Given the description of an element on the screen output the (x, y) to click on. 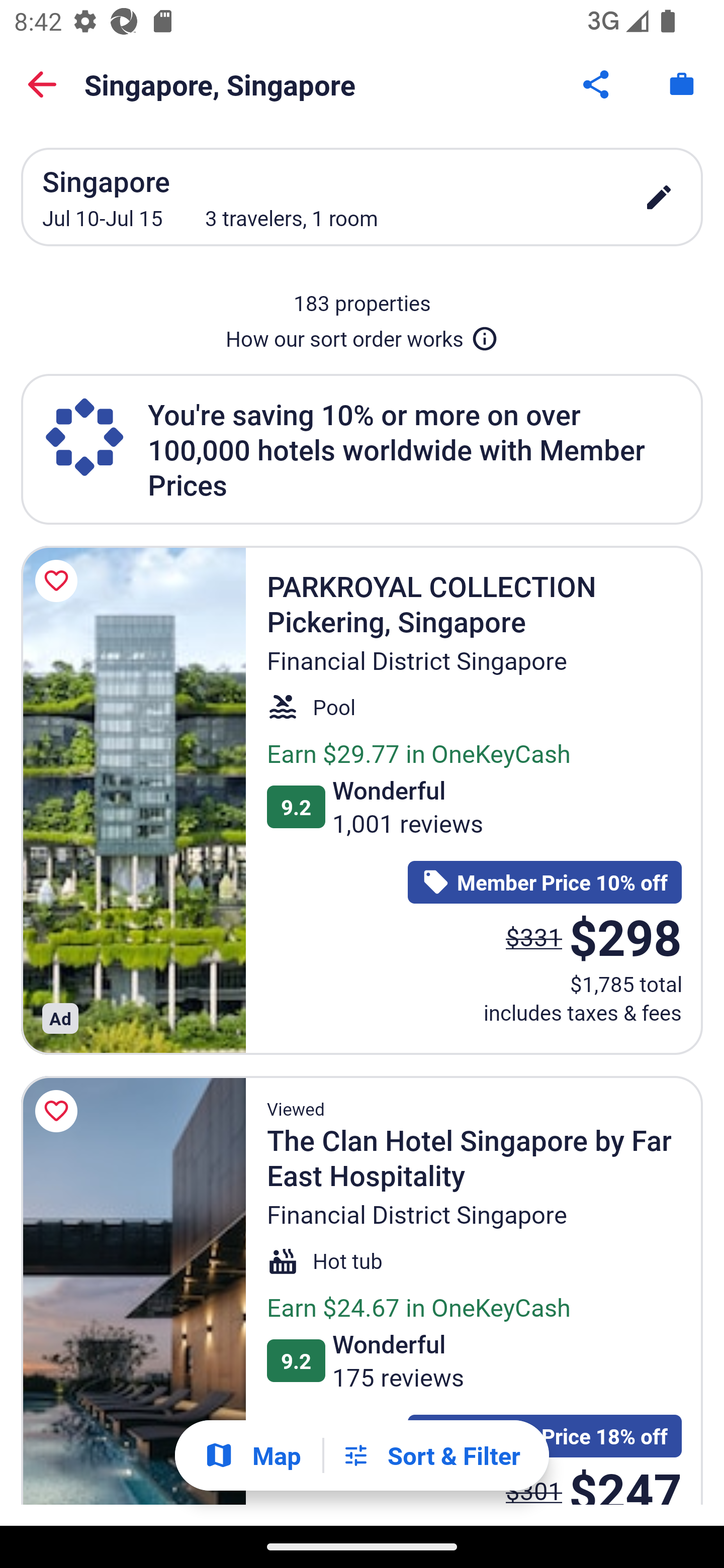
Back (42, 84)
Share Button (597, 84)
Trips. Button (681, 84)
Singapore Jul 10-Jul 15 3 travelers, 1 room edit (361, 196)
How our sort order works (361, 334)
PARKROYAL COLLECTION Pickering, Singapore (133, 800)
$331 The price was $331 (533, 936)
The Clan Hotel Singapore by Far East Hospitality (133, 1290)
Filters Sort & Filter Filters Button (430, 1455)
Show map Map Show map Button (252, 1455)
